Given the description of an element on the screen output the (x, y) to click on. 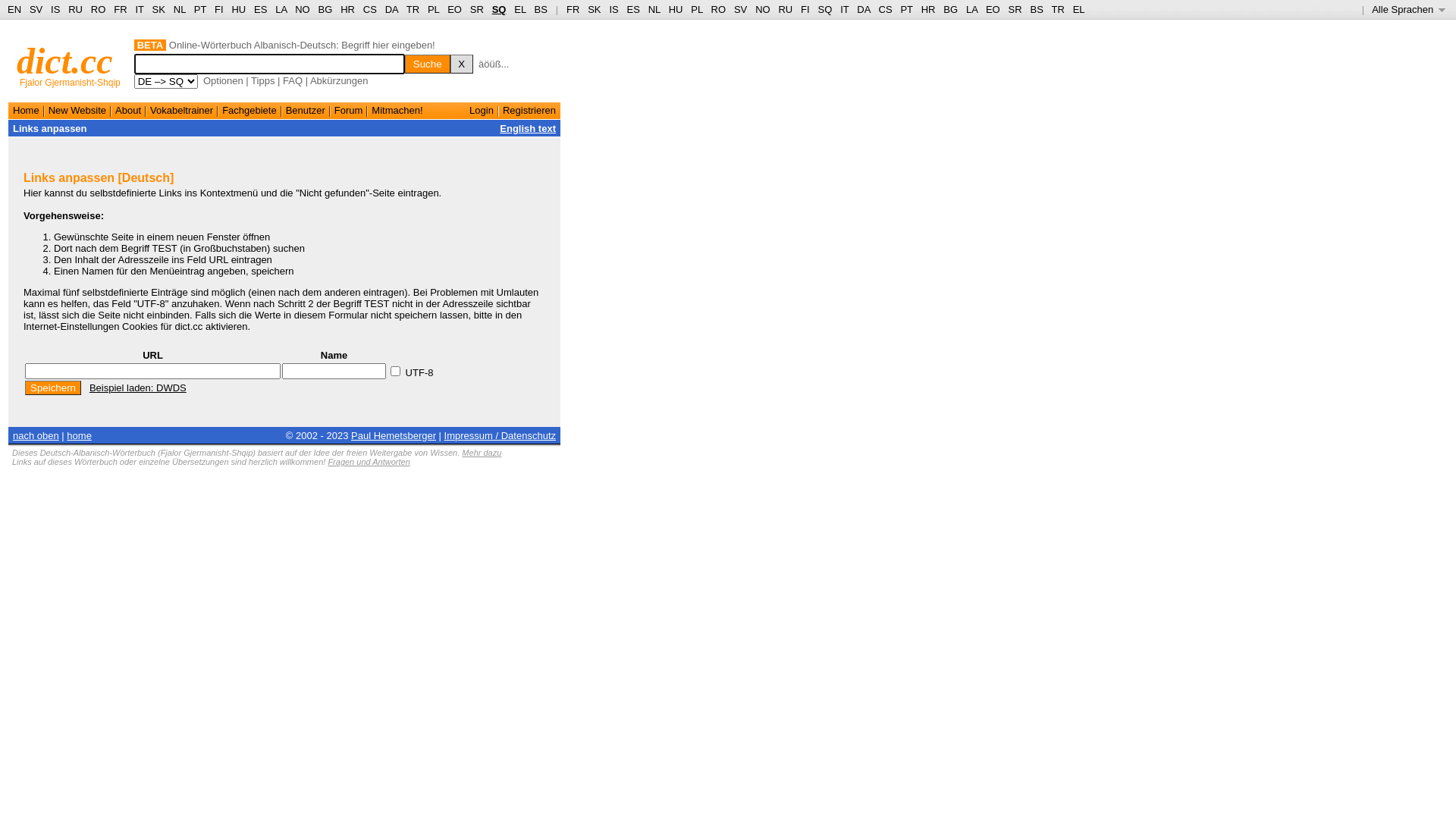
English text Element type: text (527, 128)
ES Element type: text (633, 9)
Mitmachen! Element type: text (396, 110)
SQ Element type: text (824, 9)
SR Element type: text (476, 9)
LA Element type: text (971, 9)
IT Element type: text (138, 9)
New Website Element type: text (77, 110)
ES Element type: text (260, 9)
home Element type: text (78, 434)
SQ Element type: text (499, 9)
SV Element type: text (740, 9)
HU Element type: text (238, 9)
RU Element type: text (785, 9)
Suche Element type: text (427, 63)
X Element type: text (461, 63)
TR Element type: text (412, 9)
Impressum / Datenschutz Element type: text (499, 434)
NO Element type: text (302, 9)
Mehr dazu Element type: text (481, 452)
PT Element type: text (906, 9)
SR Element type: text (1015, 9)
Paul Hemetsberger Element type: text (393, 434)
DA Element type: text (391, 9)
FI Element type: text (218, 9)
Optionen Element type: text (223, 80)
EL Element type: text (519, 9)
HR Element type: text (928, 9)
SK Element type: text (158, 9)
HU Element type: text (675, 9)
Fragen und Antworten Element type: text (368, 461)
CS Element type: text (884, 9)
nach oben Element type: text (35, 434)
Beispiel laden: DWDS Element type: text (137, 387)
CS Element type: text (369, 9)
PL Element type: text (433, 9)
BG Element type: text (950, 9)
BG Element type: text (325, 9)
EO Element type: text (992, 9)
Fachgebiete Element type: text (249, 110)
Home Element type: text (25, 110)
BS Element type: text (540, 9)
About Element type: text (128, 110)
IT Element type: text (844, 9)
NO Element type: text (762, 9)
RU Element type: text (75, 9)
Registrieren Element type: text (528, 110)
Tipps Element type: text (262, 80)
PL Element type: text (696, 9)
TR Element type: text (1057, 9)
LA Element type: text (280, 9)
Alle Sprachen  Element type: text (1408, 9)
dict.cc Element type: text (64, 60)
HR Element type: text (347, 9)
FR Element type: text (119, 9)
RO Element type: text (98, 9)
Login Element type: text (481, 110)
BS Element type: text (1035, 9)
SV Element type: text (35, 9)
DA Element type: text (862, 9)
NL Element type: text (654, 9)
FI Element type: text (804, 9)
IS Element type: text (54, 9)
Speichern Element type: text (53, 387)
EO Element type: text (454, 9)
PT Element type: text (200, 9)
FAQ Element type: text (292, 80)
FR Element type: text (572, 9)
Vokabeltrainer Element type: text (181, 110)
EL Element type: text (1079, 9)
NL Element type: text (179, 9)
Forum Element type: text (348, 110)
SK Element type: text (593, 9)
RO Element type: text (718, 9)
EN Element type: text (14, 9)
IS Element type: text (613, 9)
Benutzer Element type: text (305, 110)
